Given the description of an element on the screen output the (x, y) to click on. 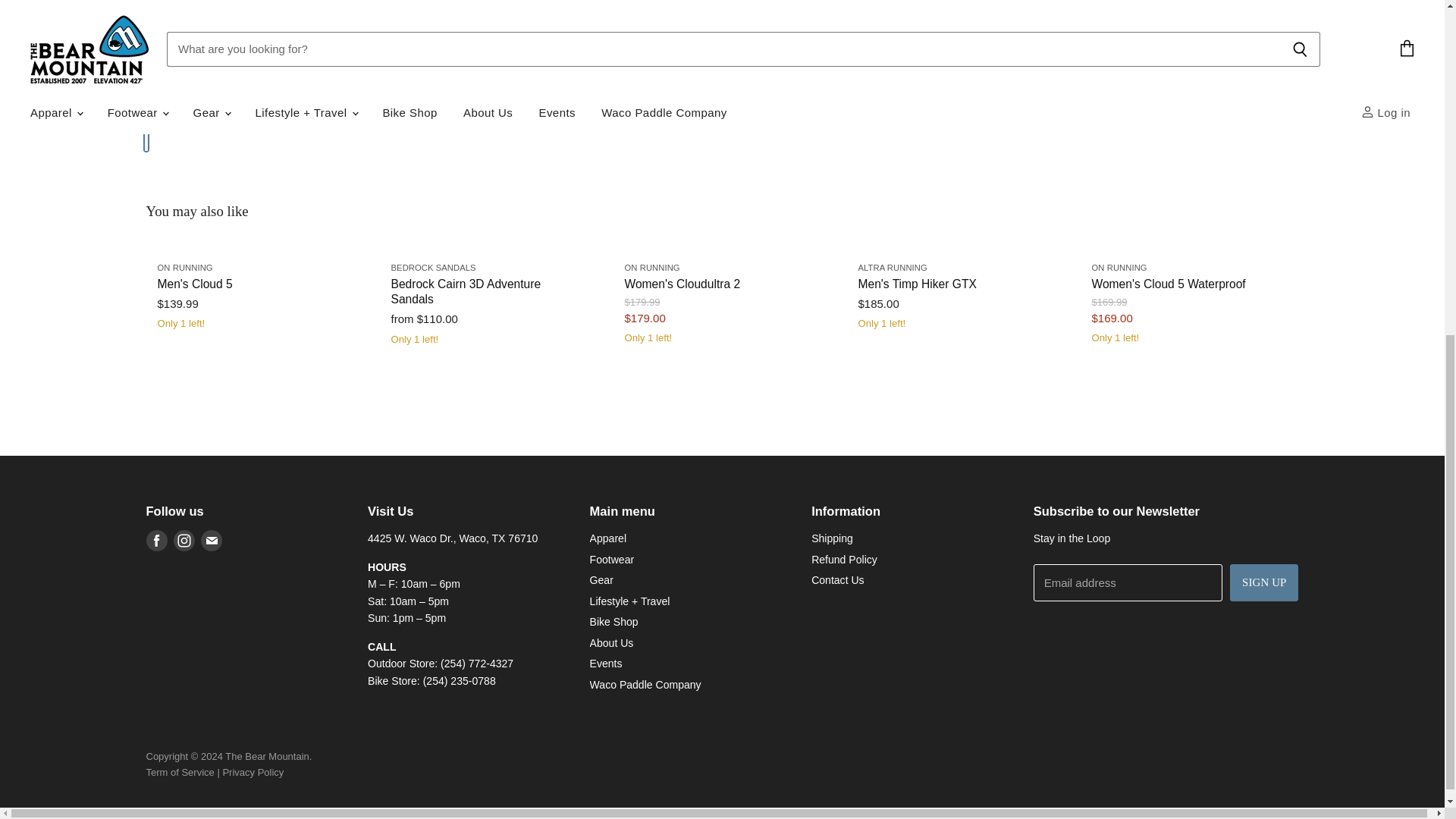
Privacy Policy (252, 772)
Terms of Service (179, 772)
Facebook (156, 540)
Instagram (183, 540)
E-mail (210, 540)
